Given the description of an element on the screen output the (x, y) to click on. 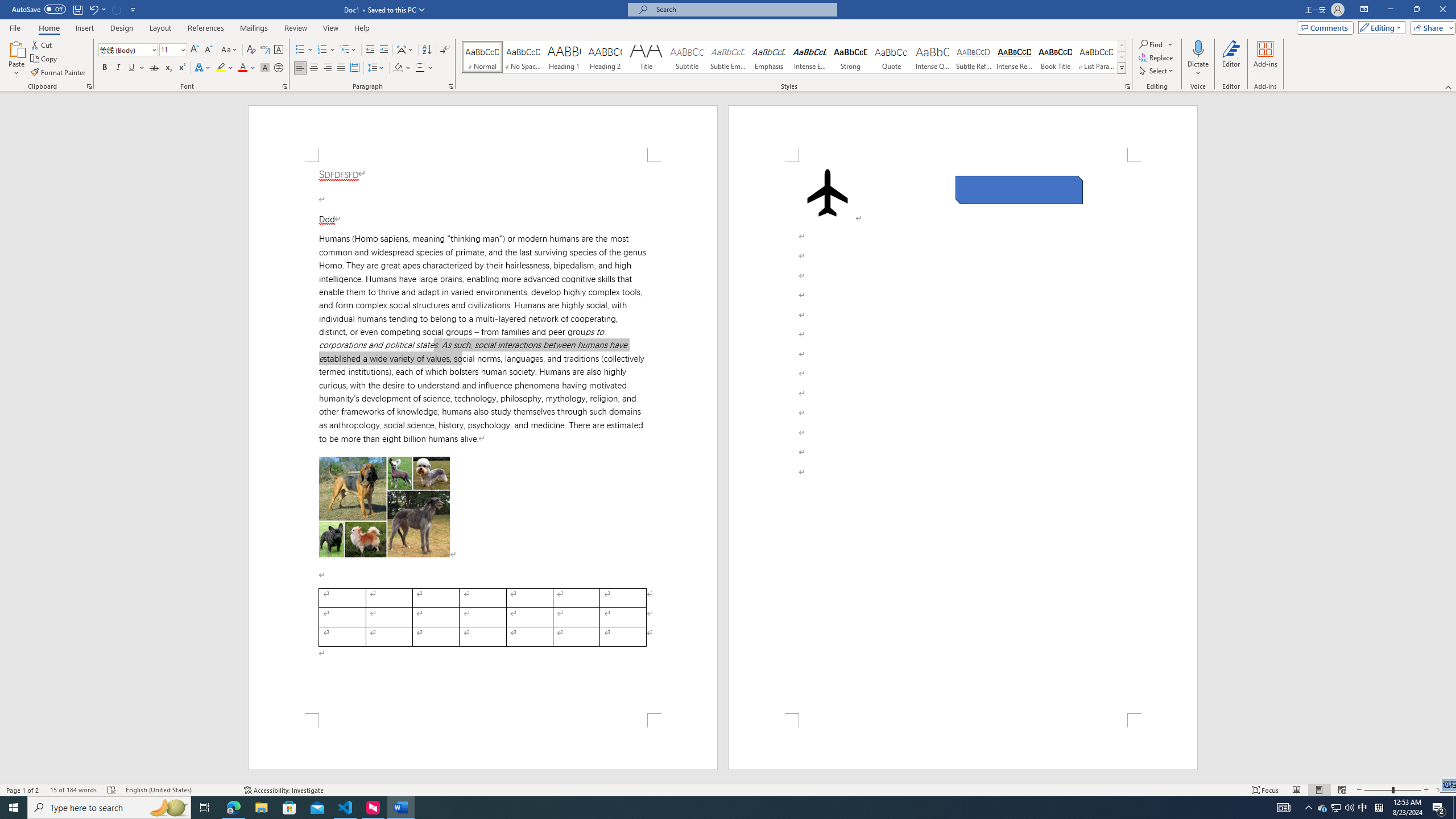
Numbering (326, 49)
System (6, 6)
Subtitle (686, 56)
Zoom (1392, 790)
Undo Apply Quick Style Set (92, 9)
Word Count 15 of 184 words (73, 790)
Ribbon Display Options (1364, 9)
Character Border (278, 49)
Class: MsoCommandBar (728, 45)
Spelling and Grammar Check Errors (111, 790)
Collapse the Ribbon (1448, 86)
Clear Formatting (250, 49)
Mailings (253, 28)
Bold (104, 67)
